Given the description of an element on the screen output the (x, y) to click on. 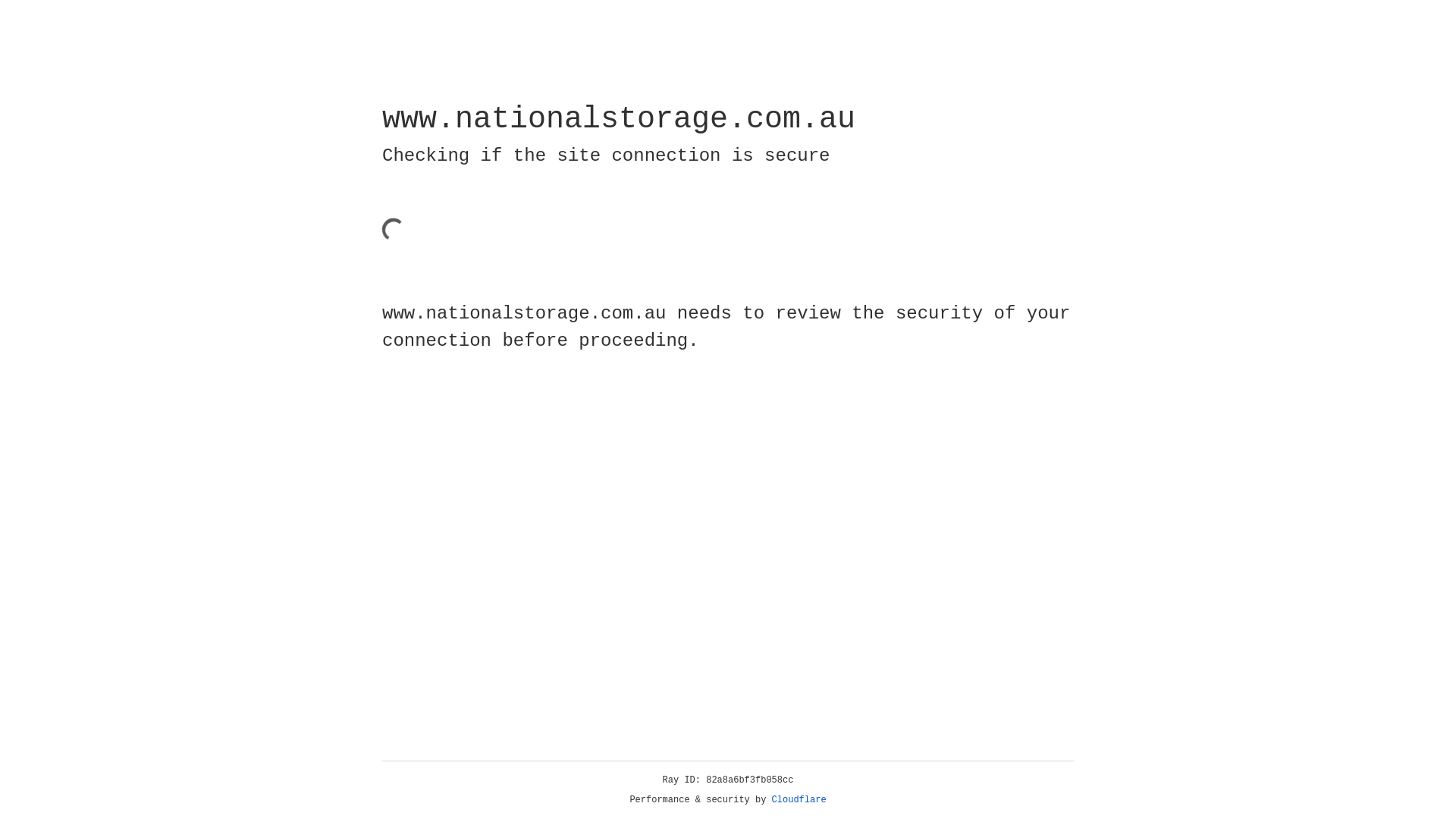
Cloudflare Element type: text (798, 799)
